Given the description of an element on the screen output the (x, y) to click on. 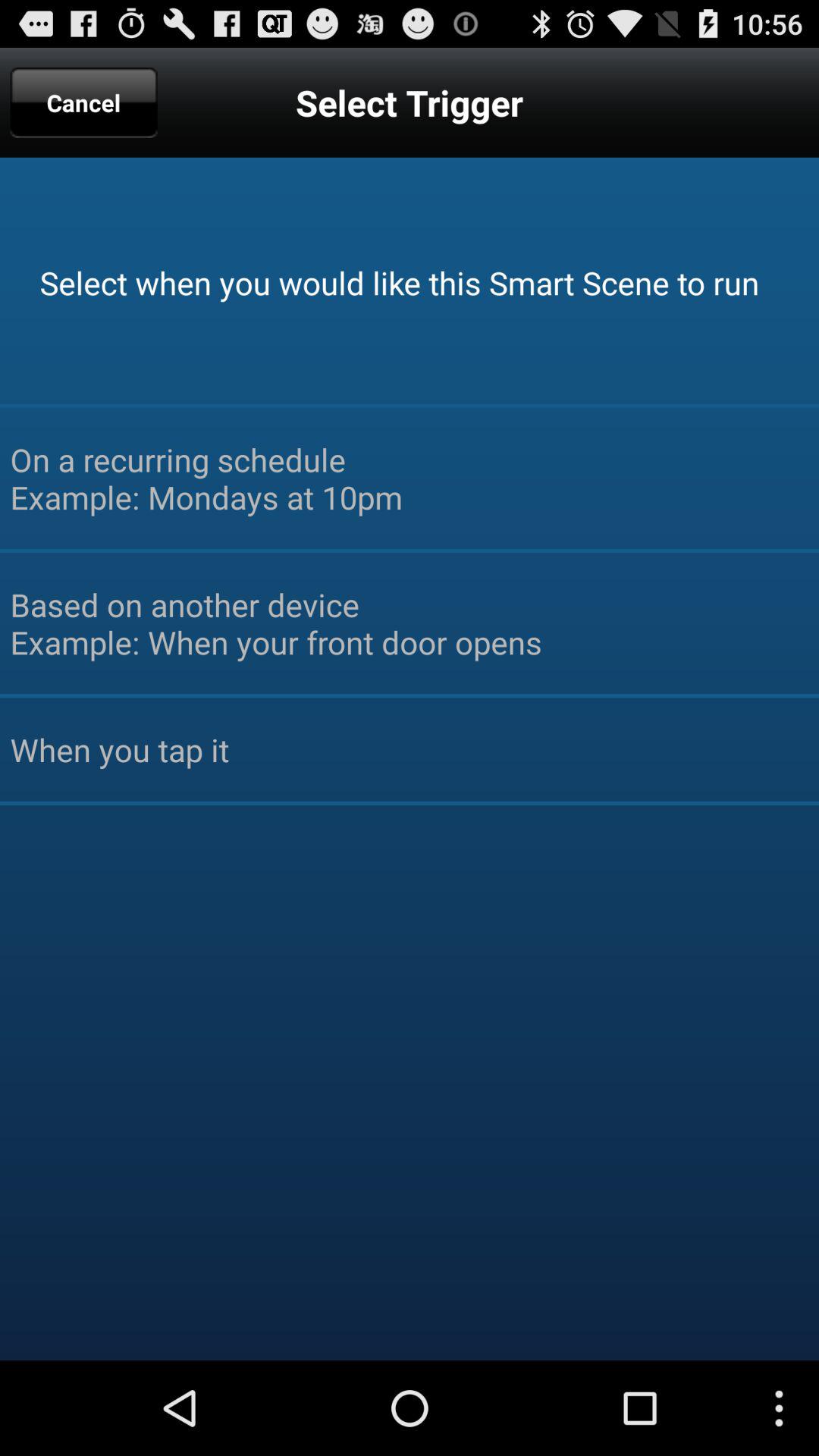
tap based on another item (409, 622)
